Given the description of an element on the screen output the (x, y) to click on. 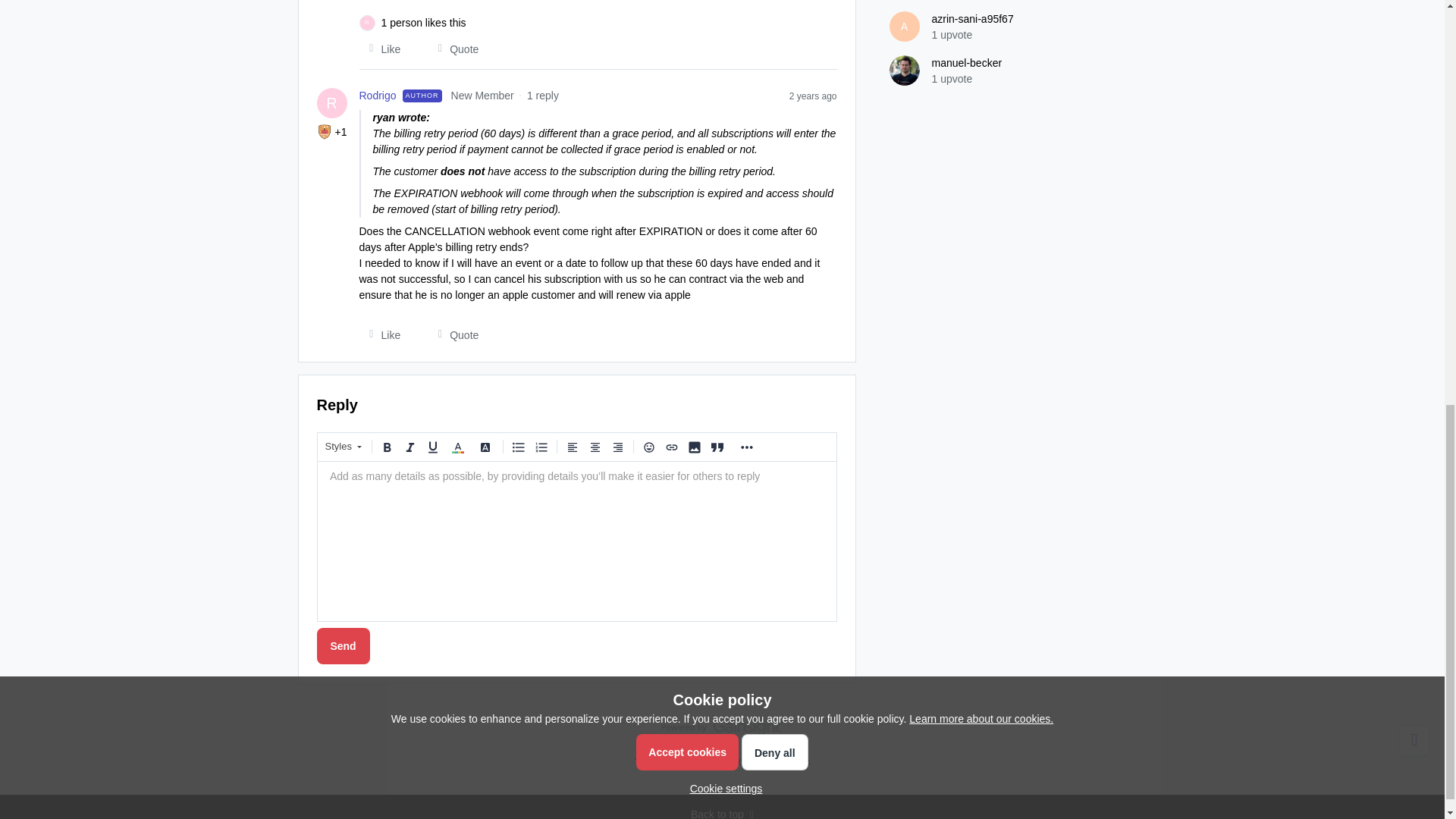
Back to top (722, 812)
